Given the description of an element on the screen output the (x, y) to click on. 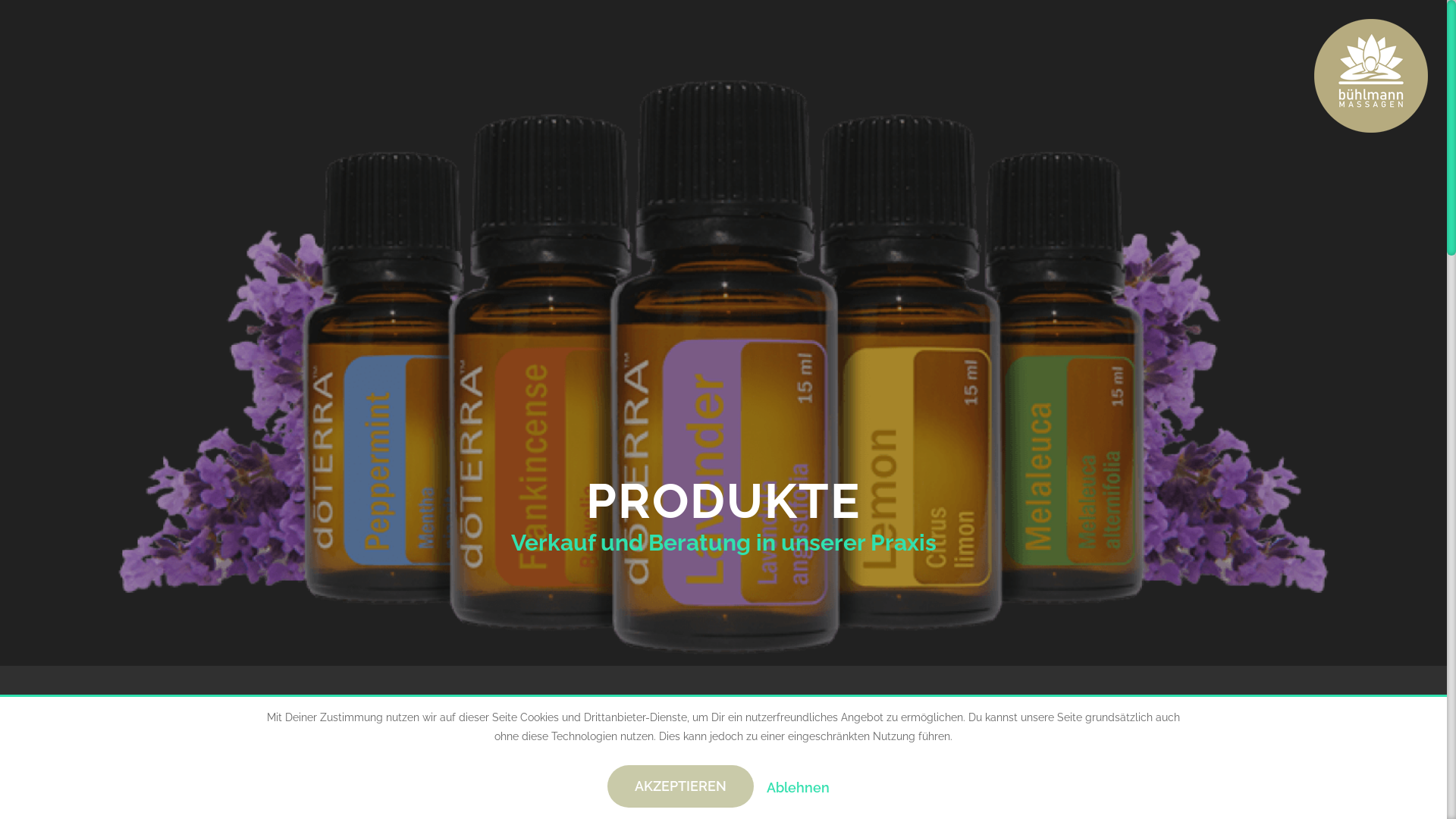
Ablehnen Element type: text (797, 787)
AKZEPTIEREN Element type: text (680, 786)
